Given the description of an element on the screen output the (x, y) to click on. 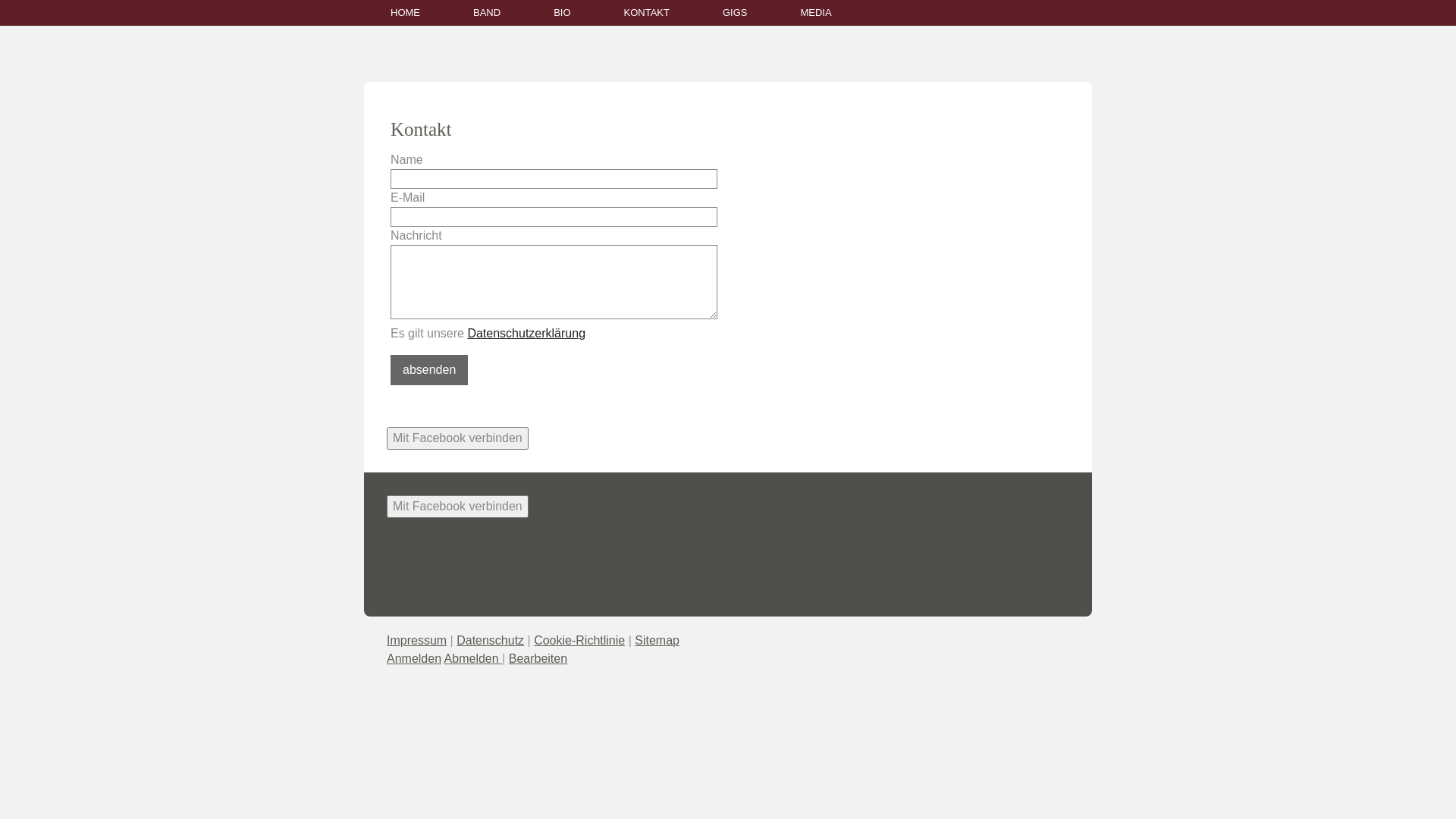
Sitemap Element type: text (656, 639)
GIGS Element type: text (735, 12)
KONTAKT Element type: text (646, 12)
MEDIA Element type: text (815, 12)
Cookie-Richtlinie Element type: text (578, 639)
BAND Element type: text (486, 12)
Impressum Element type: text (416, 639)
Abmelden Element type: text (473, 658)
Mit Facebook verbinden Element type: text (457, 506)
Bearbeiten Element type: text (537, 658)
absenden Element type: text (428, 369)
Mit Facebook verbinden Element type: text (457, 437)
BIO Element type: text (561, 12)
Anmelden Element type: text (413, 658)
Datenschutz Element type: text (490, 639)
HOME Element type: text (405, 12)
